Given the description of an element on the screen output the (x, y) to click on. 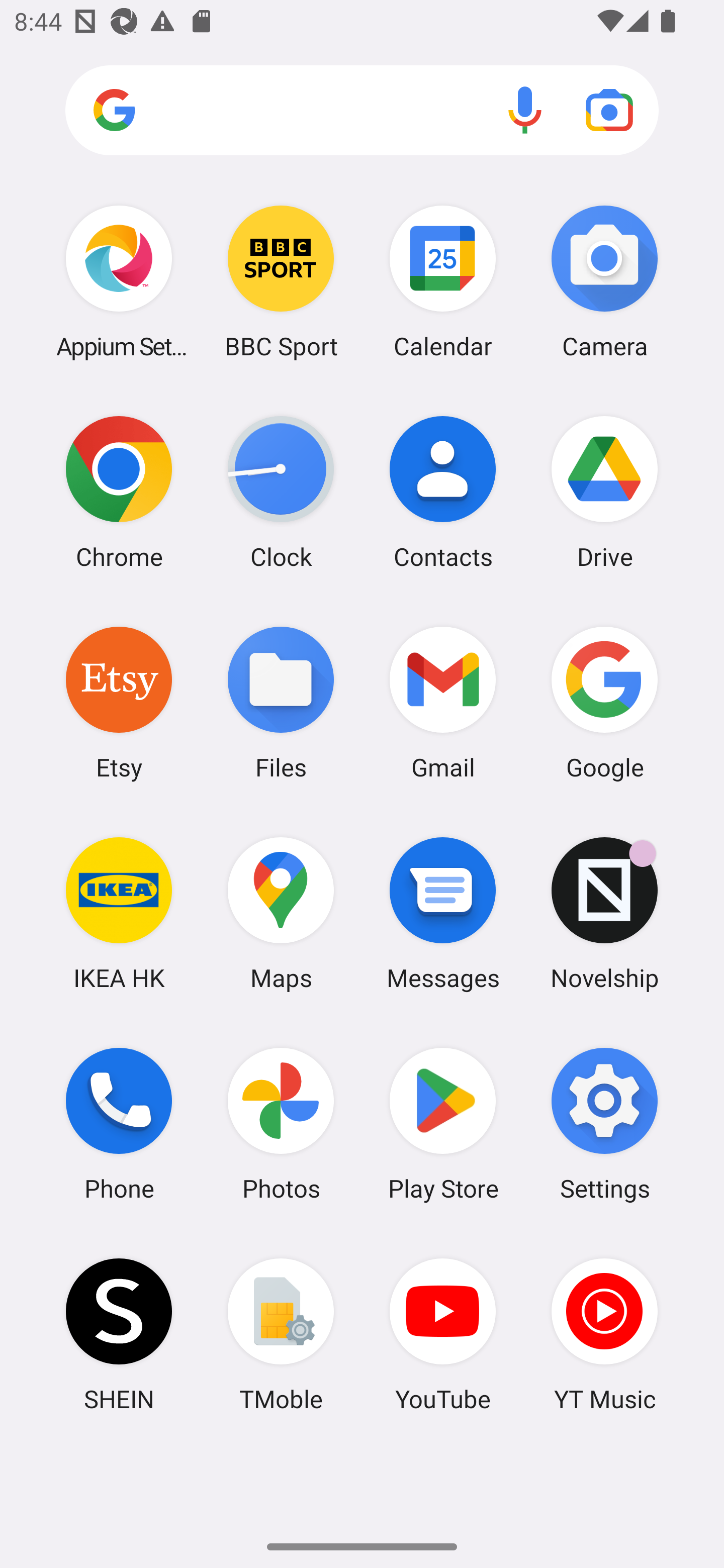
Search apps, web and more (361, 110)
Voice search (524, 109)
Google Lens (608, 109)
Appium Settings (118, 281)
BBC Sport (280, 281)
Calendar (443, 281)
Camera (604, 281)
Chrome (118, 492)
Clock (280, 492)
Contacts (443, 492)
Drive (604, 492)
Etsy (118, 702)
Files (280, 702)
Gmail (443, 702)
Google (604, 702)
IKEA HK (118, 913)
Maps (280, 913)
Messages (443, 913)
Novelship Novelship has 2 notifications (604, 913)
Phone (118, 1124)
Photos (280, 1124)
Play Store (443, 1124)
Settings (604, 1124)
SHEIN (118, 1334)
TMoble (280, 1334)
YouTube (443, 1334)
YT Music (604, 1334)
